Given the description of an element on the screen output the (x, y) to click on. 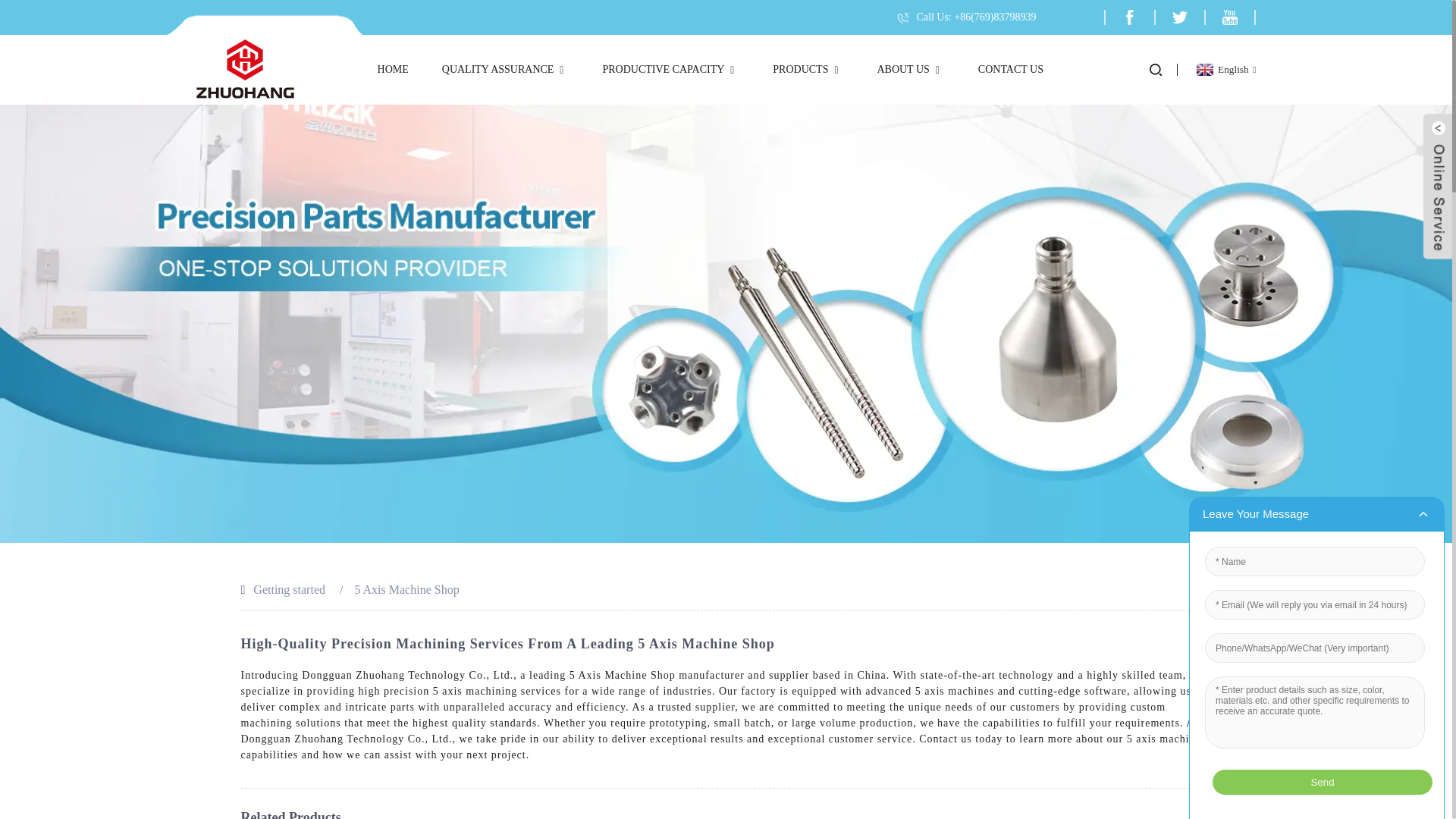
PRODUCTS (808, 69)
CONTACT US (1010, 69)
English (1223, 69)
QUALITY ASSURANCE (505, 69)
HOME (393, 69)
5 Axis Machine Shop (405, 589)
PRODUCTIVE CAPACITY (670, 69)
ABOUT US (909, 69)
Getting started (288, 589)
